Given the description of an element on the screen output the (x, y) to click on. 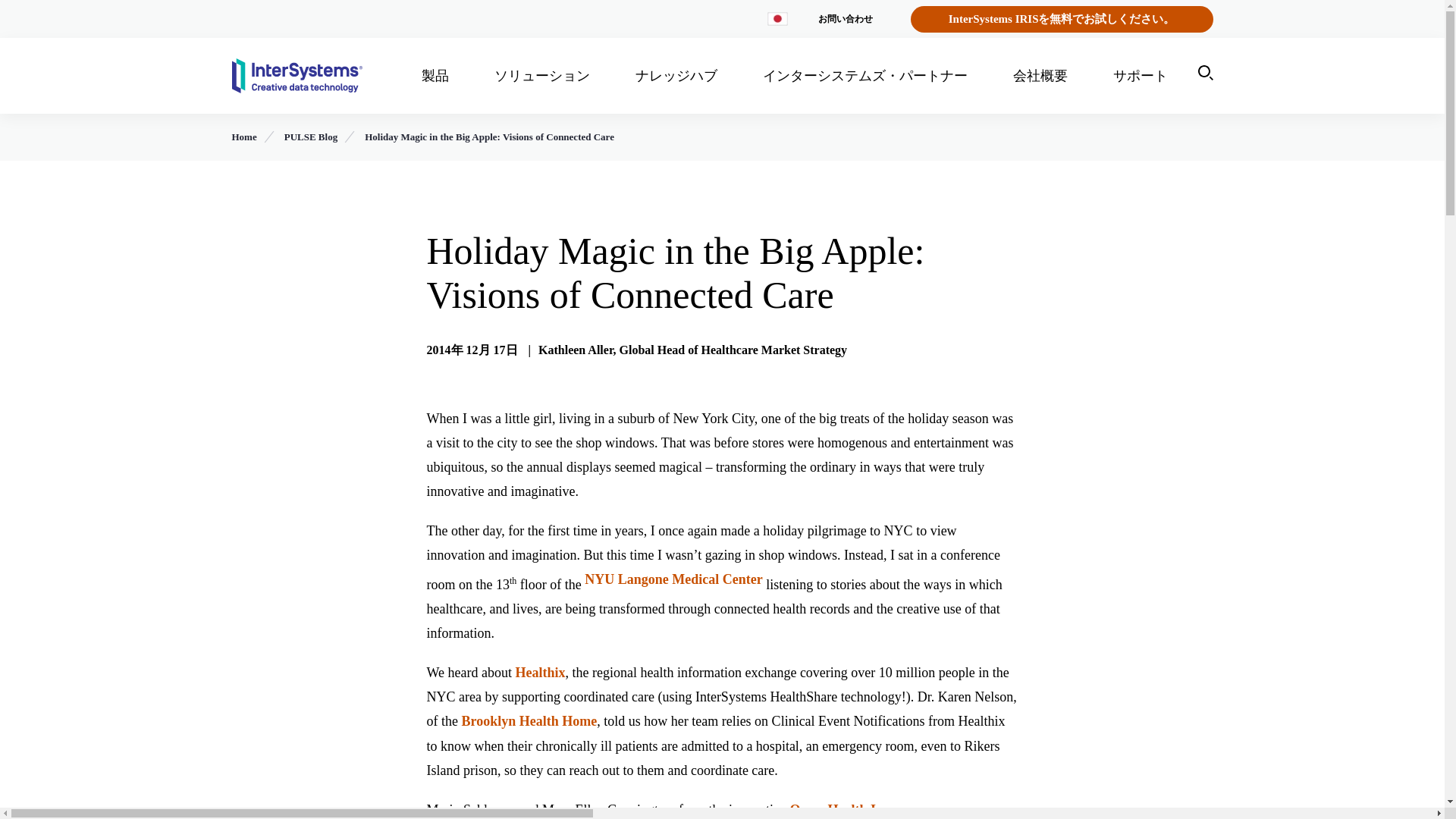
Toggle Countries (777, 18)
